Given the description of an element on the screen output the (x, y) to click on. 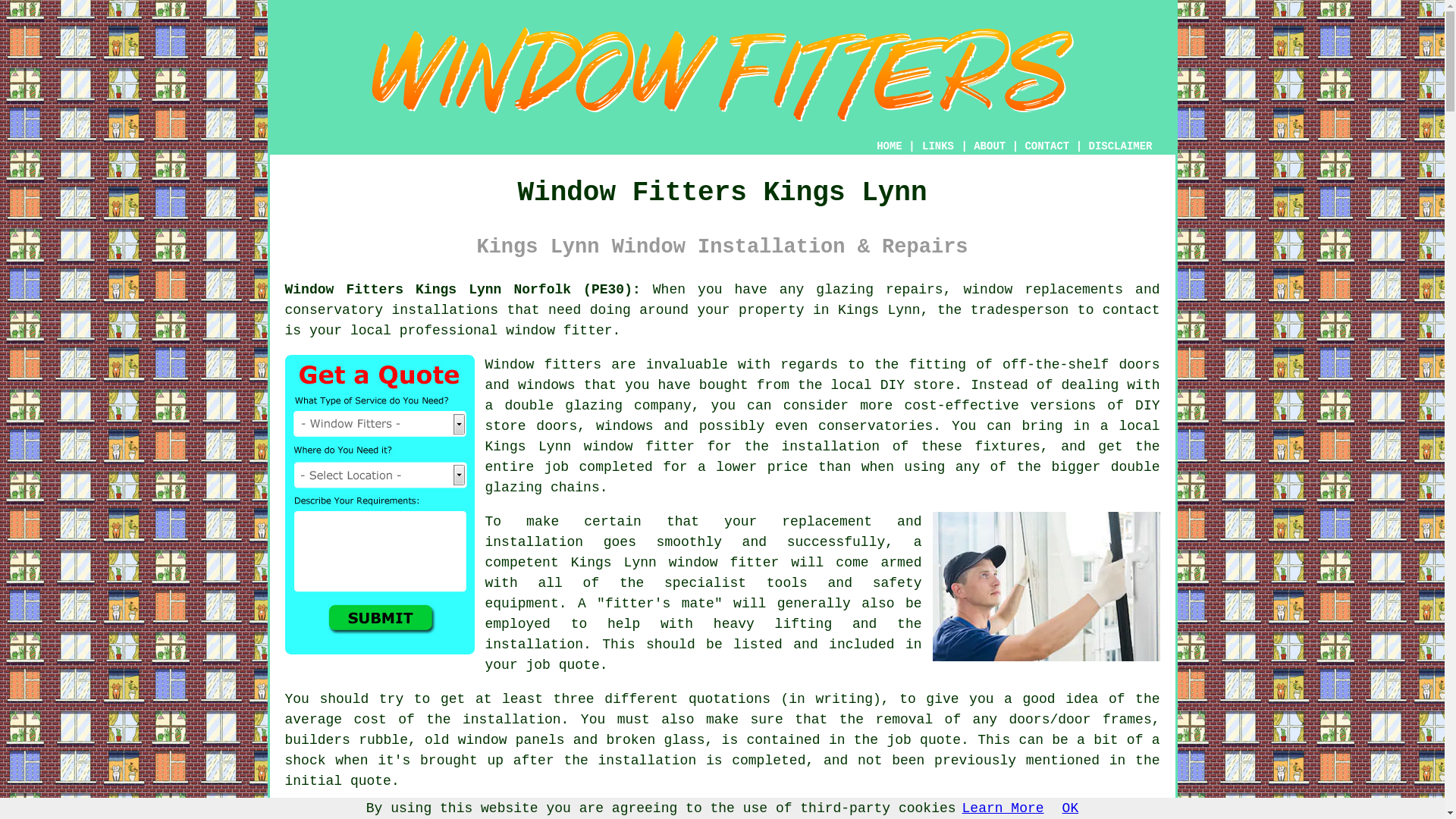
LINKS (938, 146)
Window Fitters Kings Lynn (721, 74)
window fitter (558, 330)
HOME (889, 146)
